Given the description of an element on the screen output the (x, y) to click on. 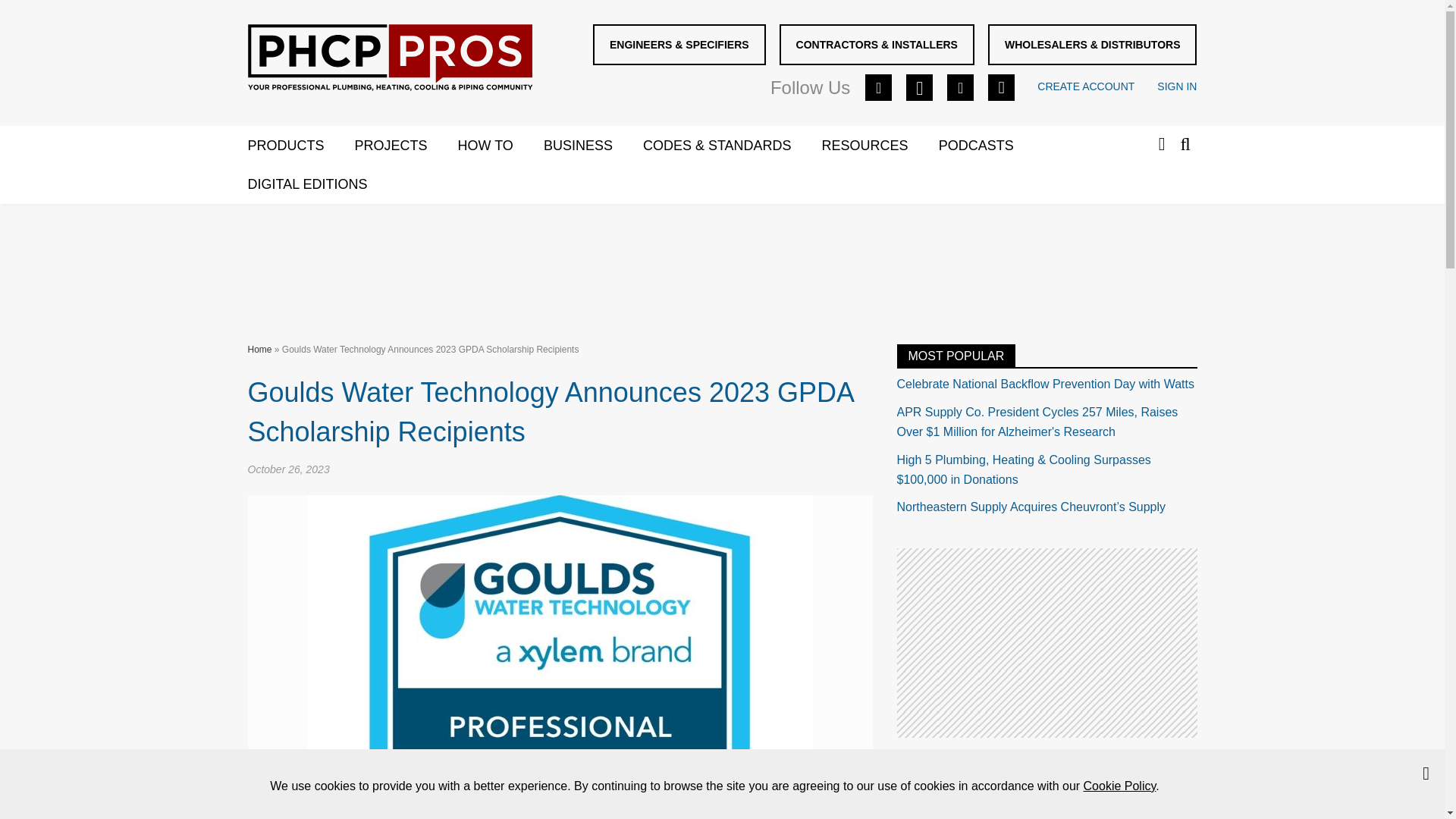
3rd party ad content (721, 260)
3rd party ad content (1046, 642)
logo (389, 57)
